Given the description of an element on the screen output the (x, y) to click on. 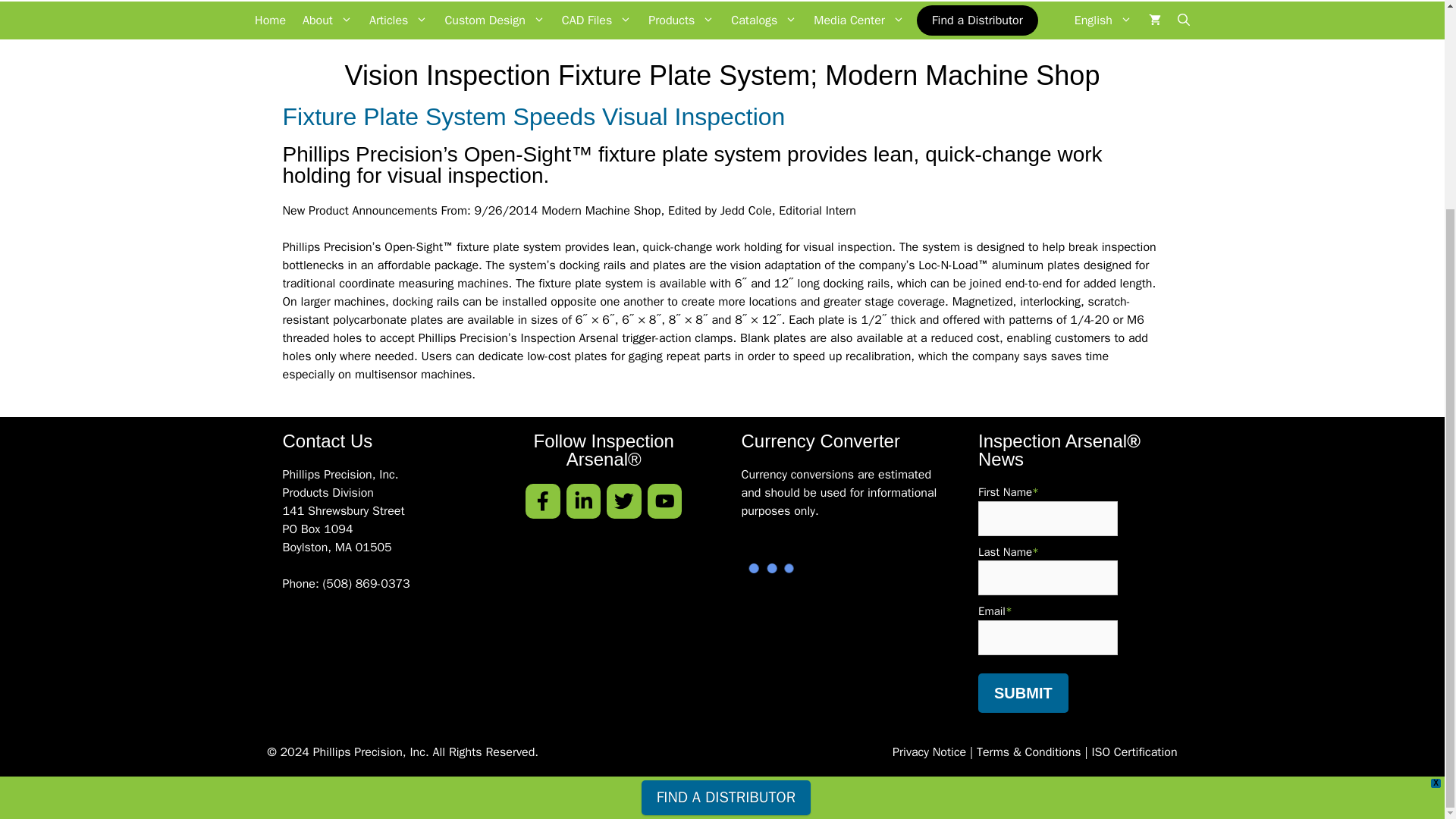
Articles (398, 20)
About (327, 20)
Media Center (858, 20)
Home (270, 20)
Submit (1023, 692)
Catalogs (763, 20)
Custom Design (494, 20)
CAD Files (596, 20)
Submit (1023, 692)
